Given the description of an element on the screen output the (x, y) to click on. 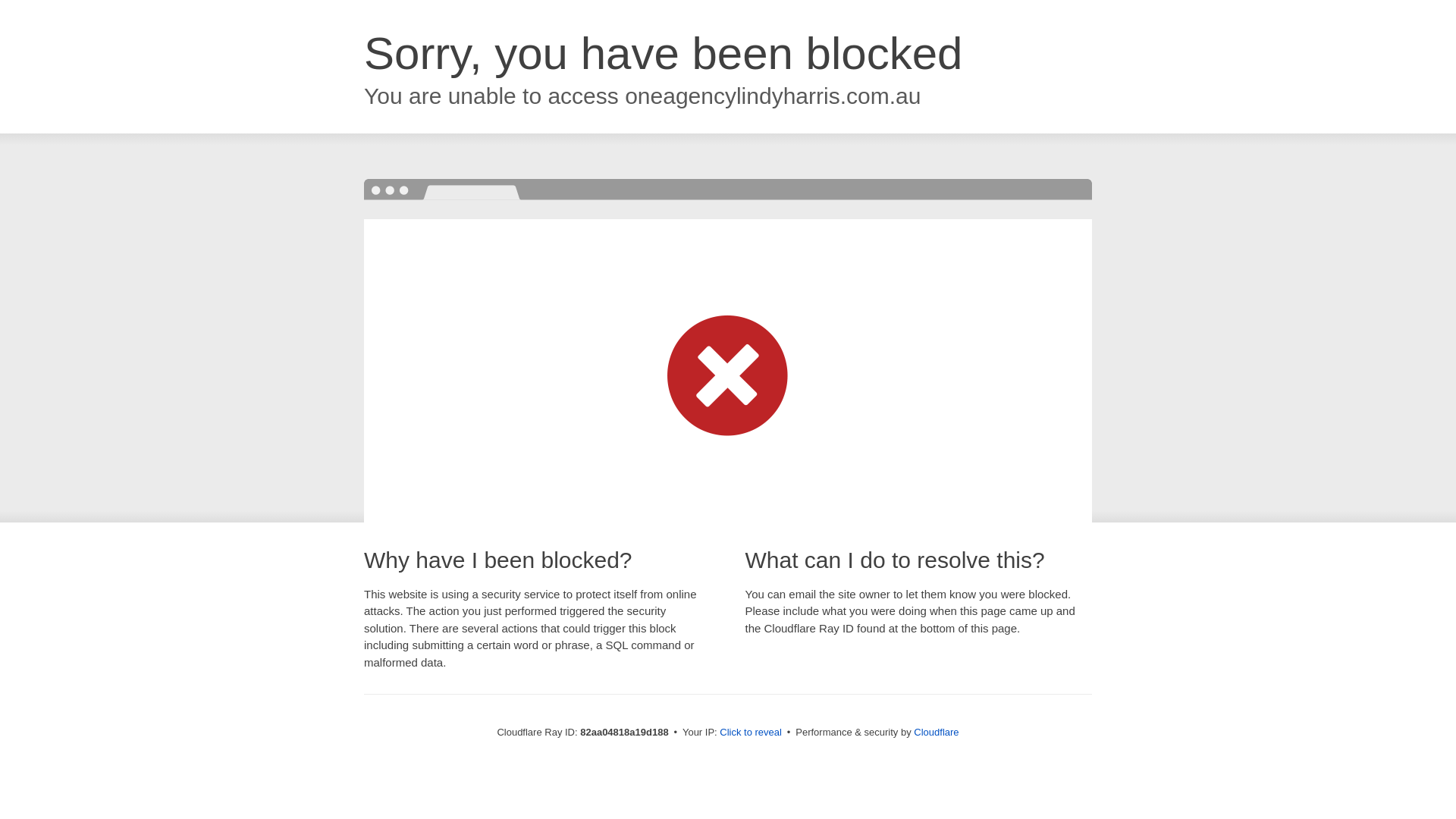
Click to reveal Element type: text (750, 732)
Cloudflare Element type: text (935, 731)
